Given the description of an element on the screen output the (x, y) to click on. 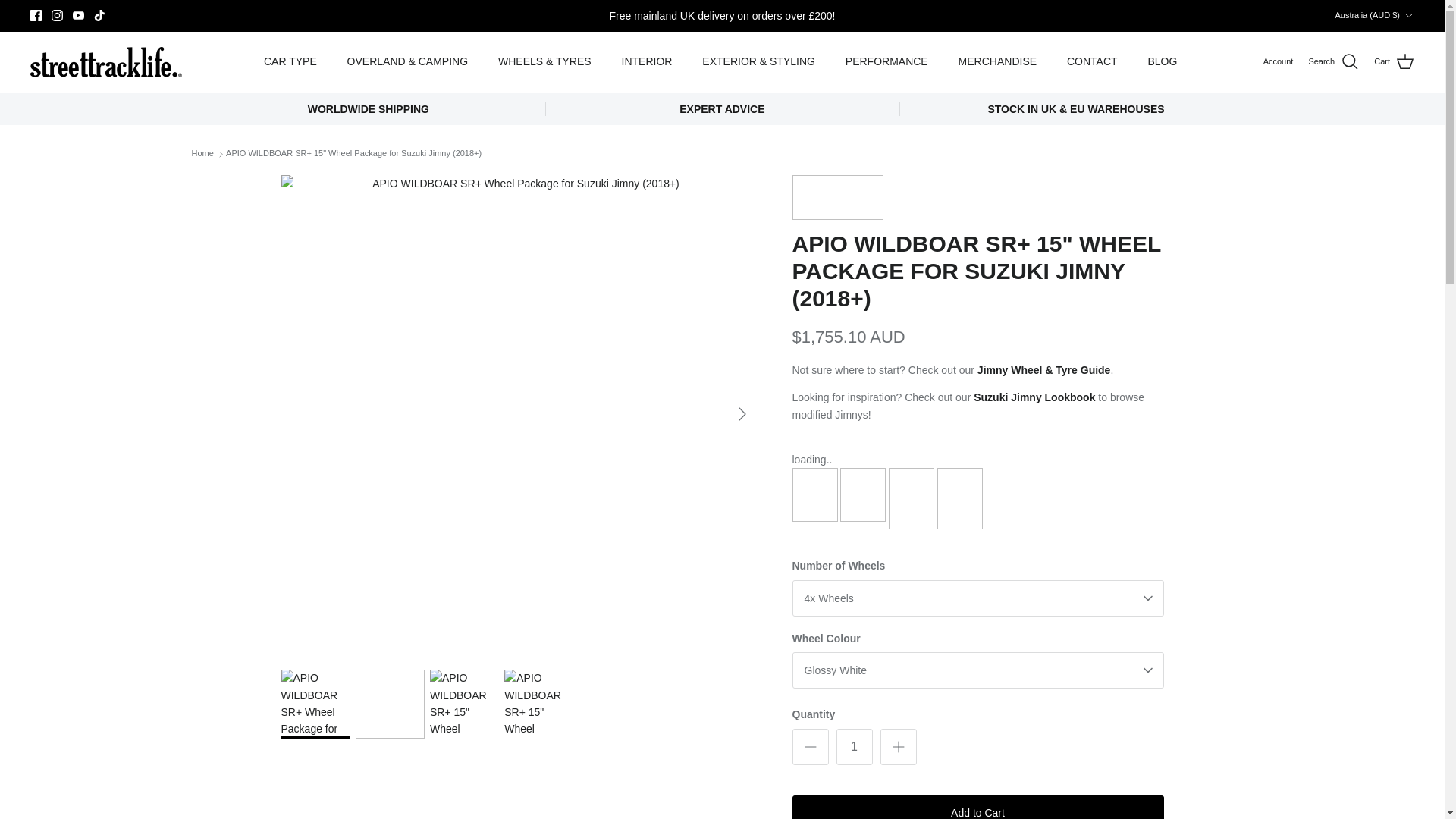
Instagram (56, 15)
Plus (897, 746)
1 (853, 746)
STREET TRACK LIFE (106, 61)
Minus (809, 746)
Down (1408, 15)
Right (741, 413)
Instagram (56, 15)
Facebook (36, 15)
Facebook (36, 15)
